Given the description of an element on the screen output the (x, y) to click on. 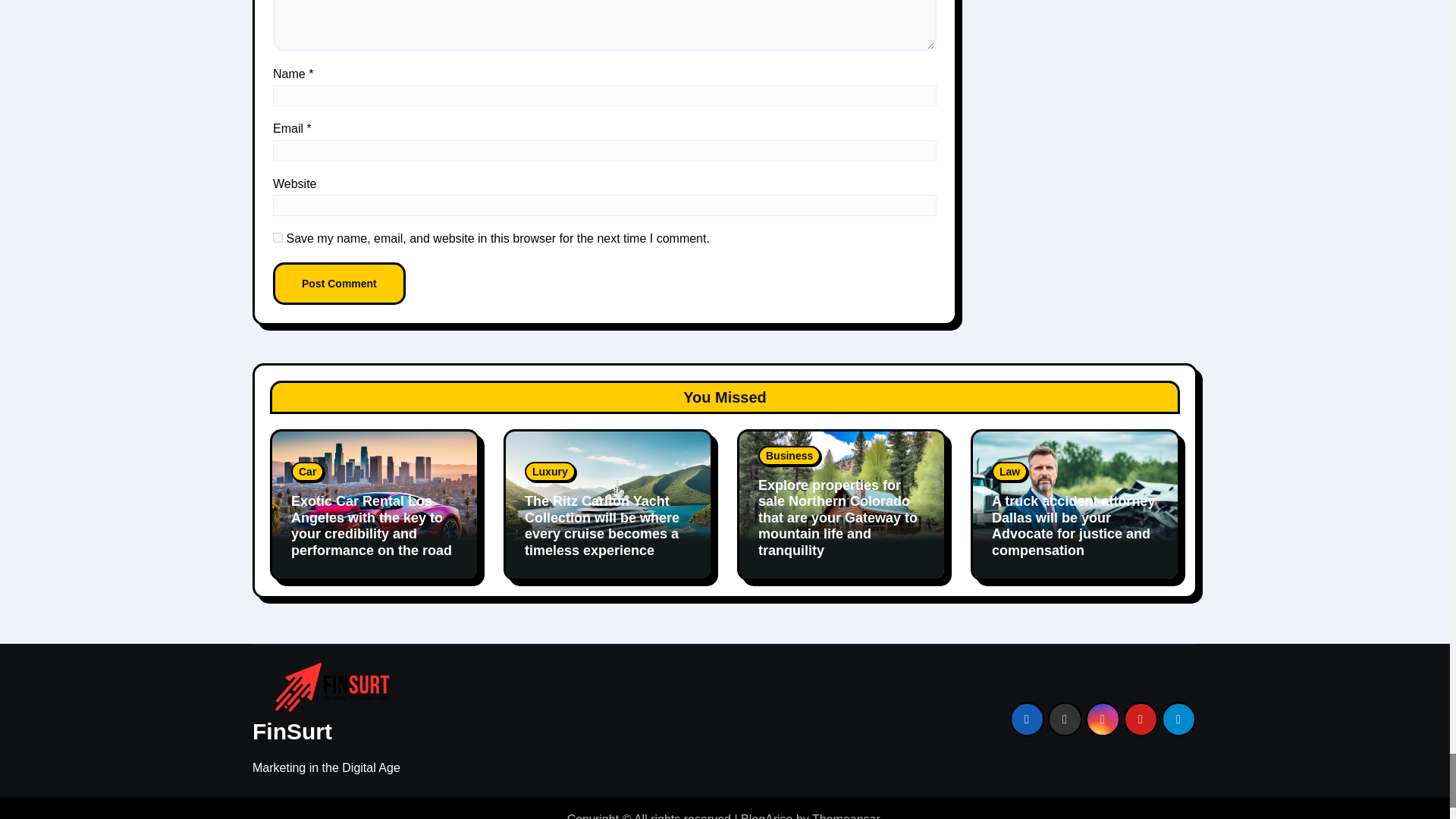
yes (277, 237)
Post Comment (339, 283)
